Given the description of an element on the screen output the (x, y) to click on. 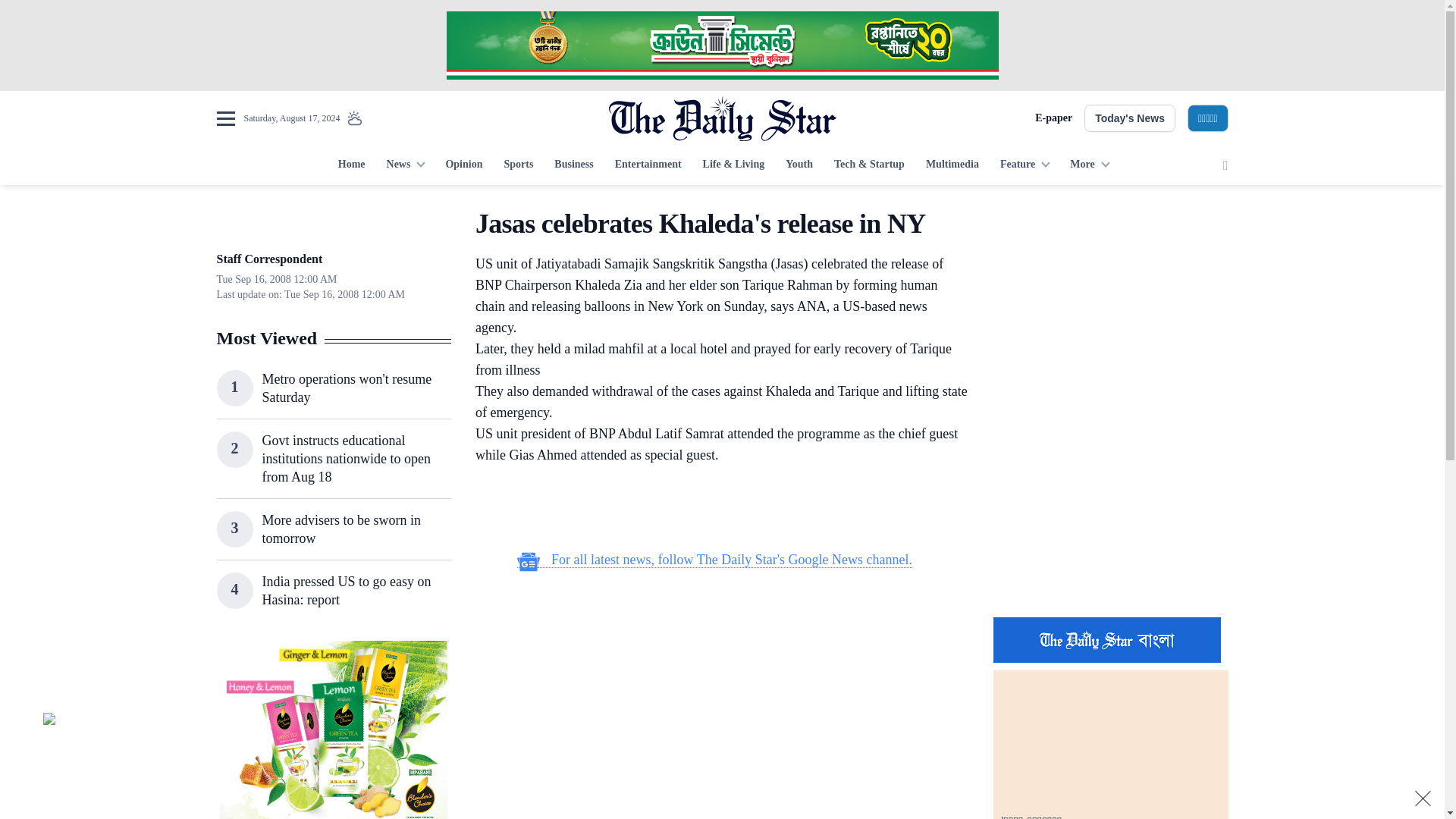
Business (573, 165)
E-paper (1053, 117)
3rd party ad content (713, 680)
3rd party ad content (332, 729)
Entertainment (647, 165)
3rd party ad content (721, 45)
3rd party ad content (1110, 506)
3rd party ad content (1110, 302)
Multimedia (952, 165)
Sports (518, 165)
